Given the description of an element on the screen output the (x, y) to click on. 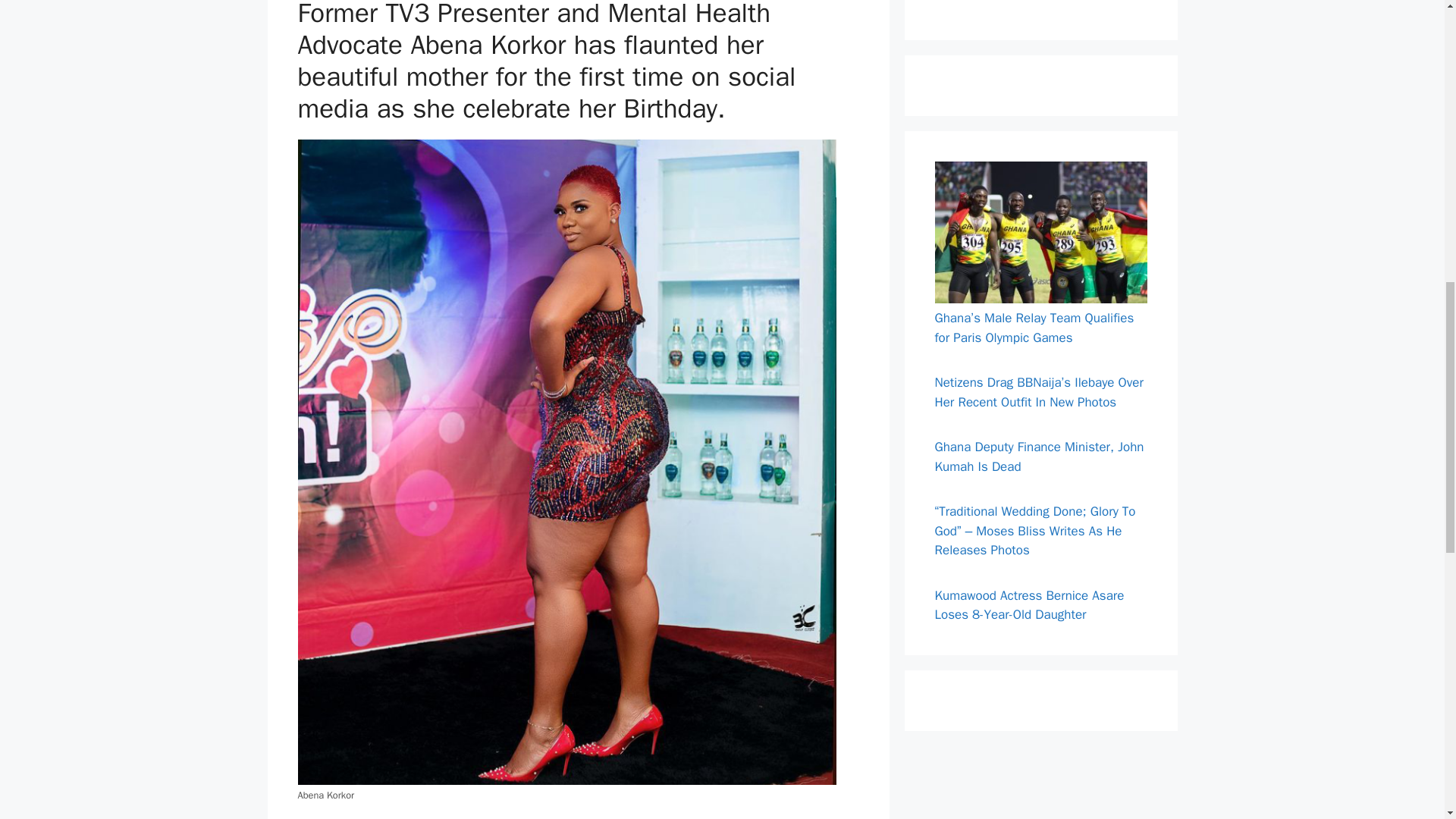
Kumawood Actress Bernice Asare Loses 8-Year-Old Daughter (1029, 605)
Ghana Deputy Finance Minister, John Kumah Is Dead (1038, 456)
